Given the description of an element on the screen output the (x, y) to click on. 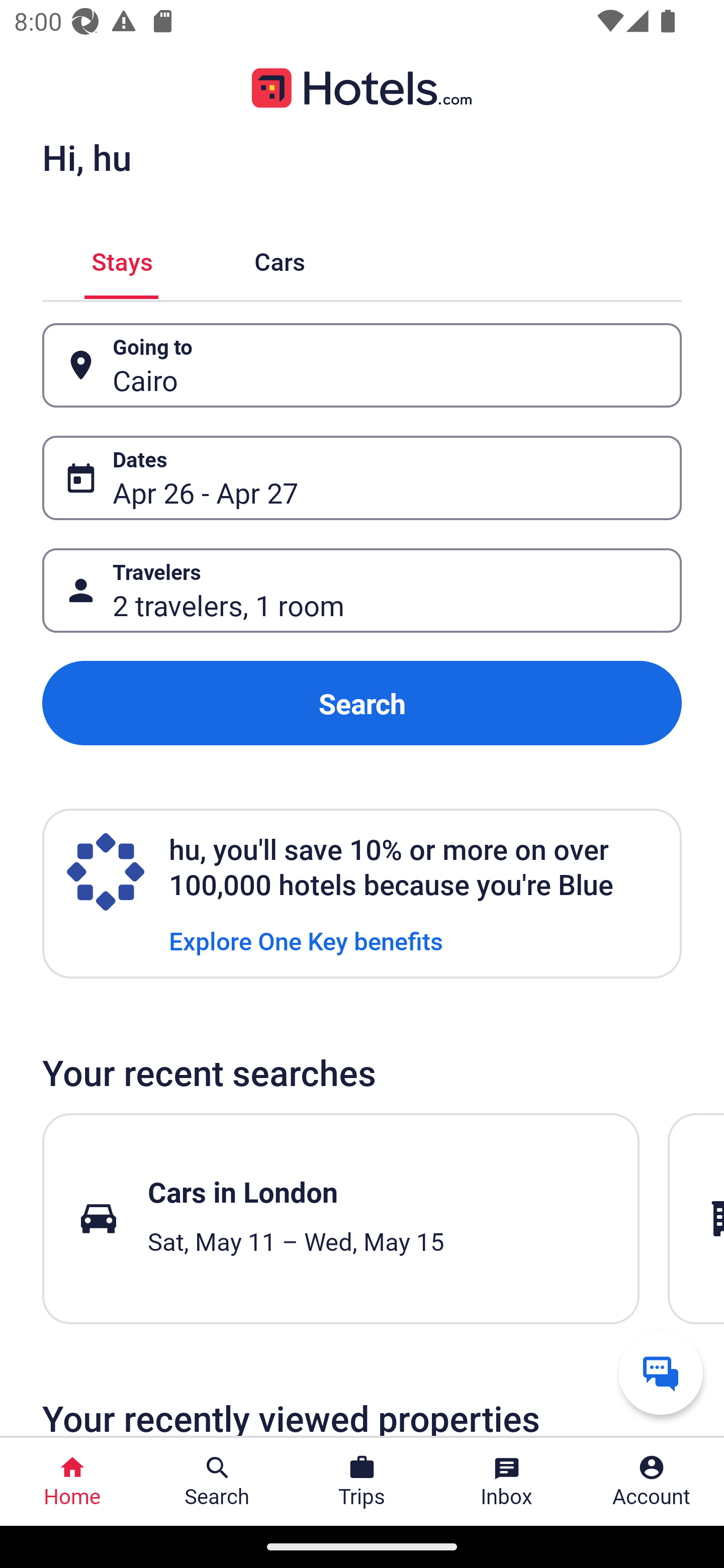
Hi, hu (86, 156)
Cars (279, 259)
Going to Button Cairo (361, 365)
Dates Button Apr 26 - Apr 27 (361, 477)
Travelers Button 2 travelers, 1 room (361, 590)
Search (361, 702)
Get help from a virtual agent (660, 1371)
Search Search Button (216, 1481)
Trips Trips Button (361, 1481)
Inbox Inbox Button (506, 1481)
Account Profile. Button (651, 1481)
